Given the description of an element on the screen output the (x, y) to click on. 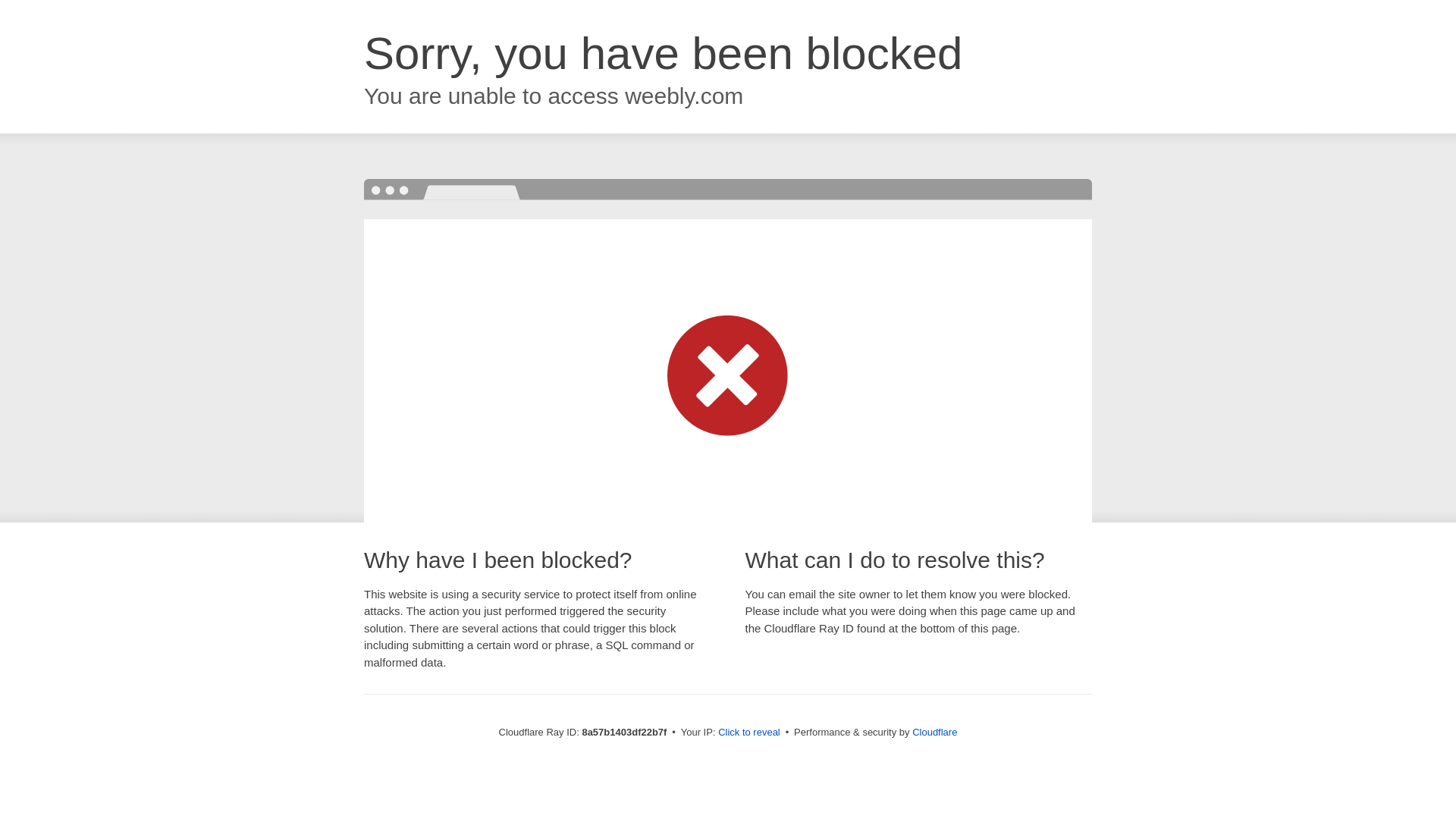
Click to reveal (748, 732)
Cloudflare (934, 731)
